Given the description of an element on the screen output the (x, y) to click on. 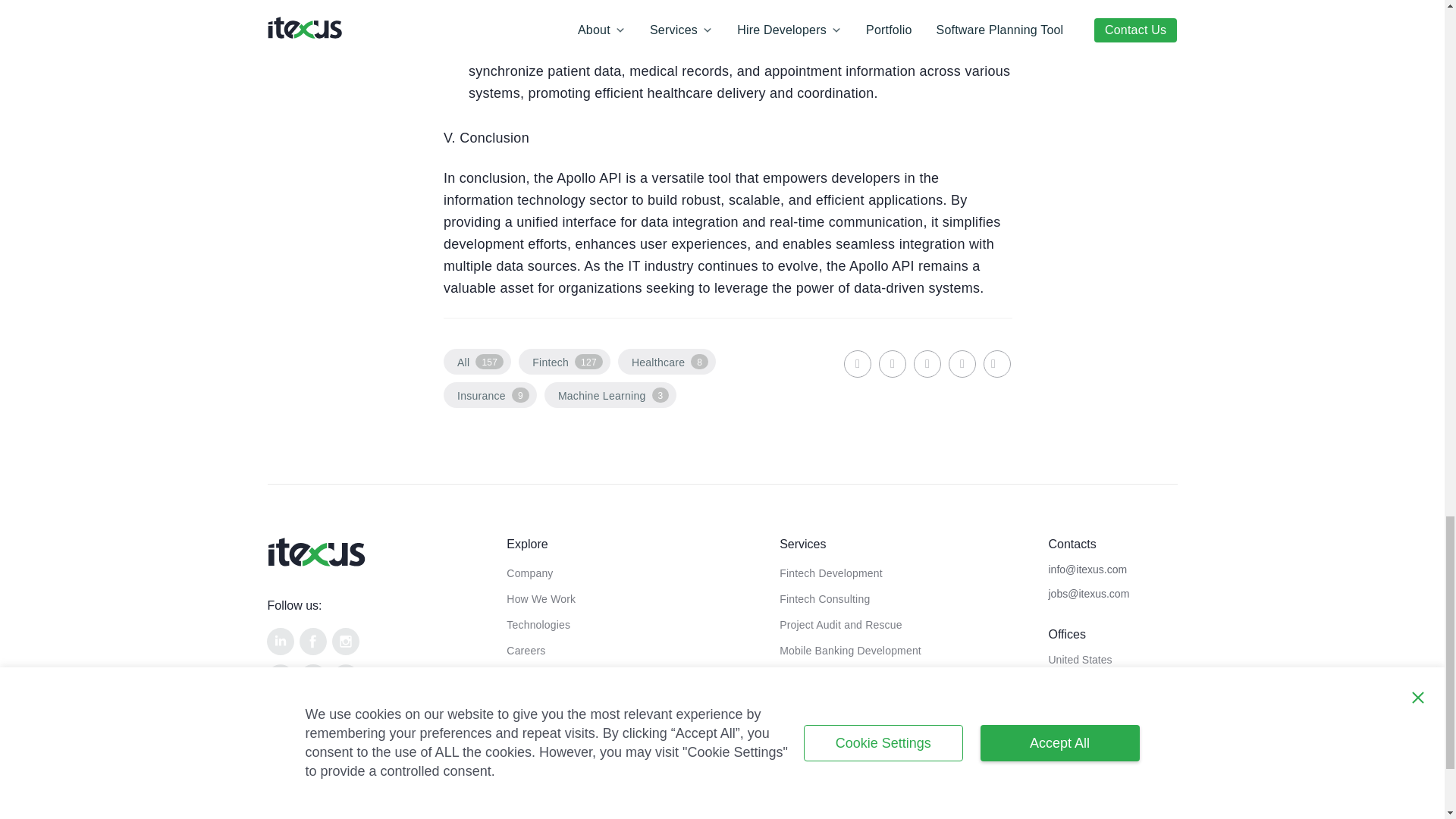
Copy to Clipboard (997, 363)
Share in Reddit (962, 363)
Share in Twitter (927, 363)
Share in Facebook (892, 363)
Share in Linkedin (857, 363)
